Given the description of an element on the screen output the (x, y) to click on. 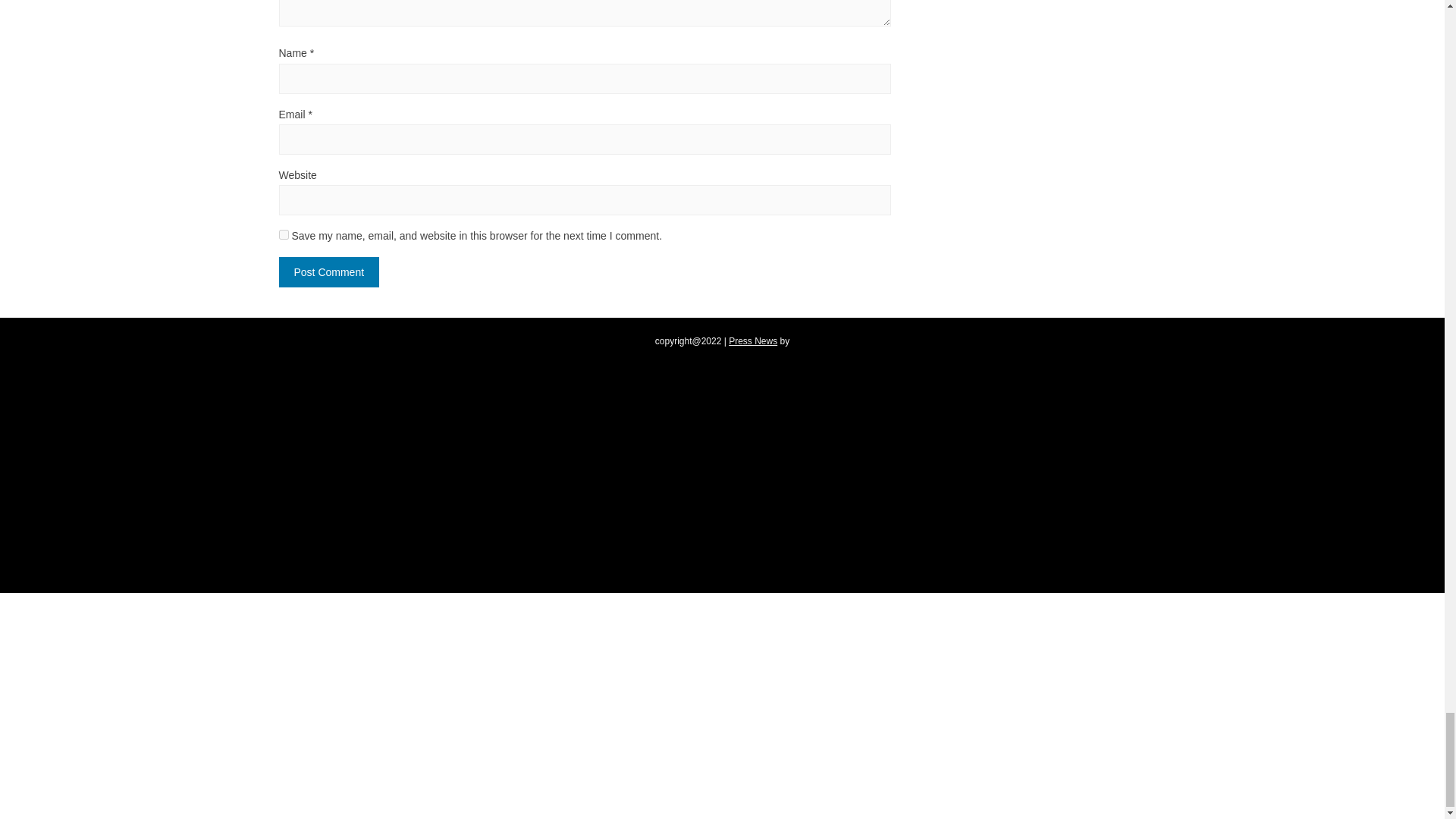
Post Comment (329, 272)
Post Comment (329, 272)
Download Press News (753, 340)
yes (283, 234)
